Given the description of an element on the screen output the (x, y) to click on. 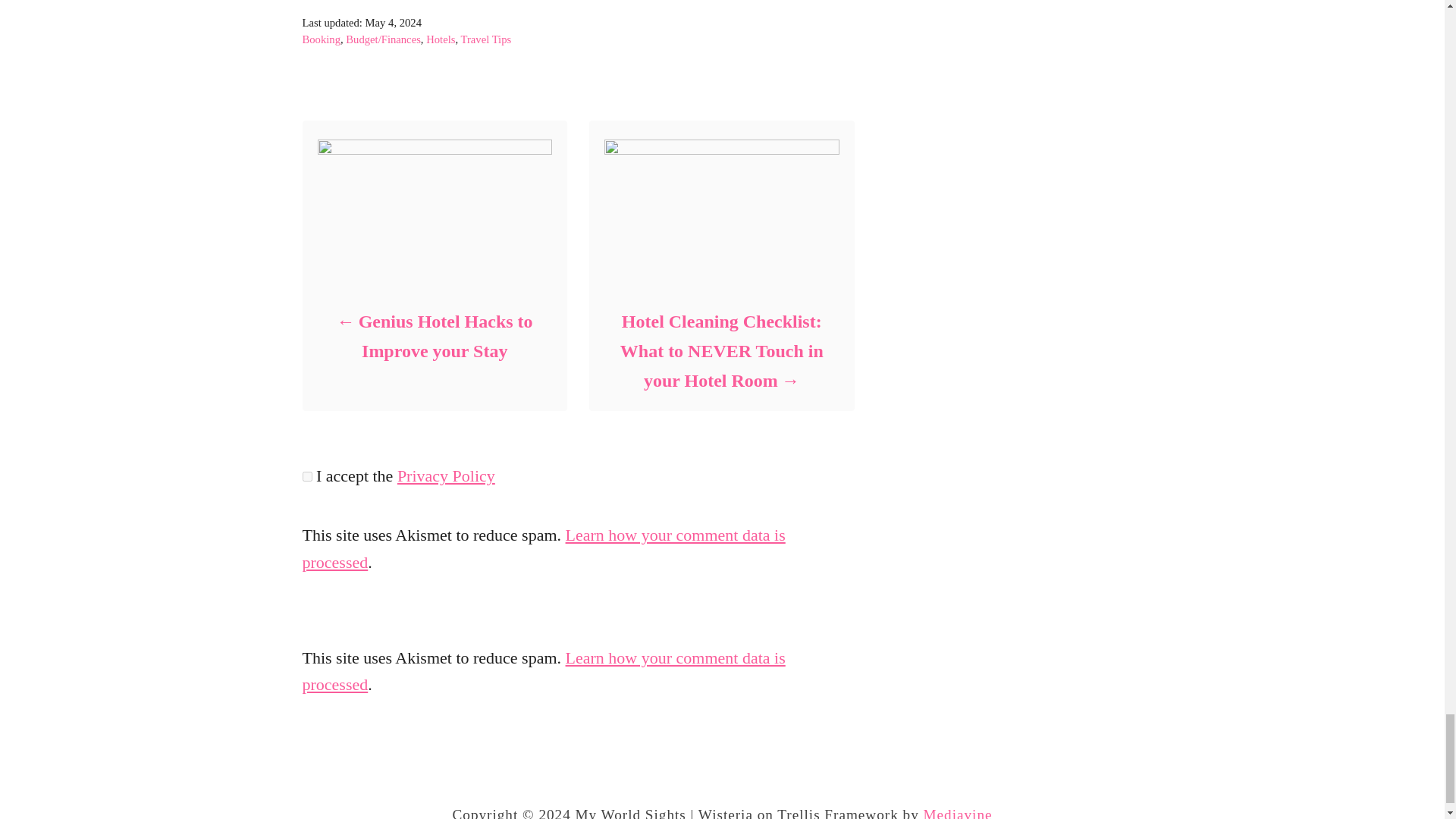
Travel Tips (486, 39)
Hotels (440, 39)
Booking (320, 39)
1 (306, 476)
